Given the description of an element on the screen output the (x, y) to click on. 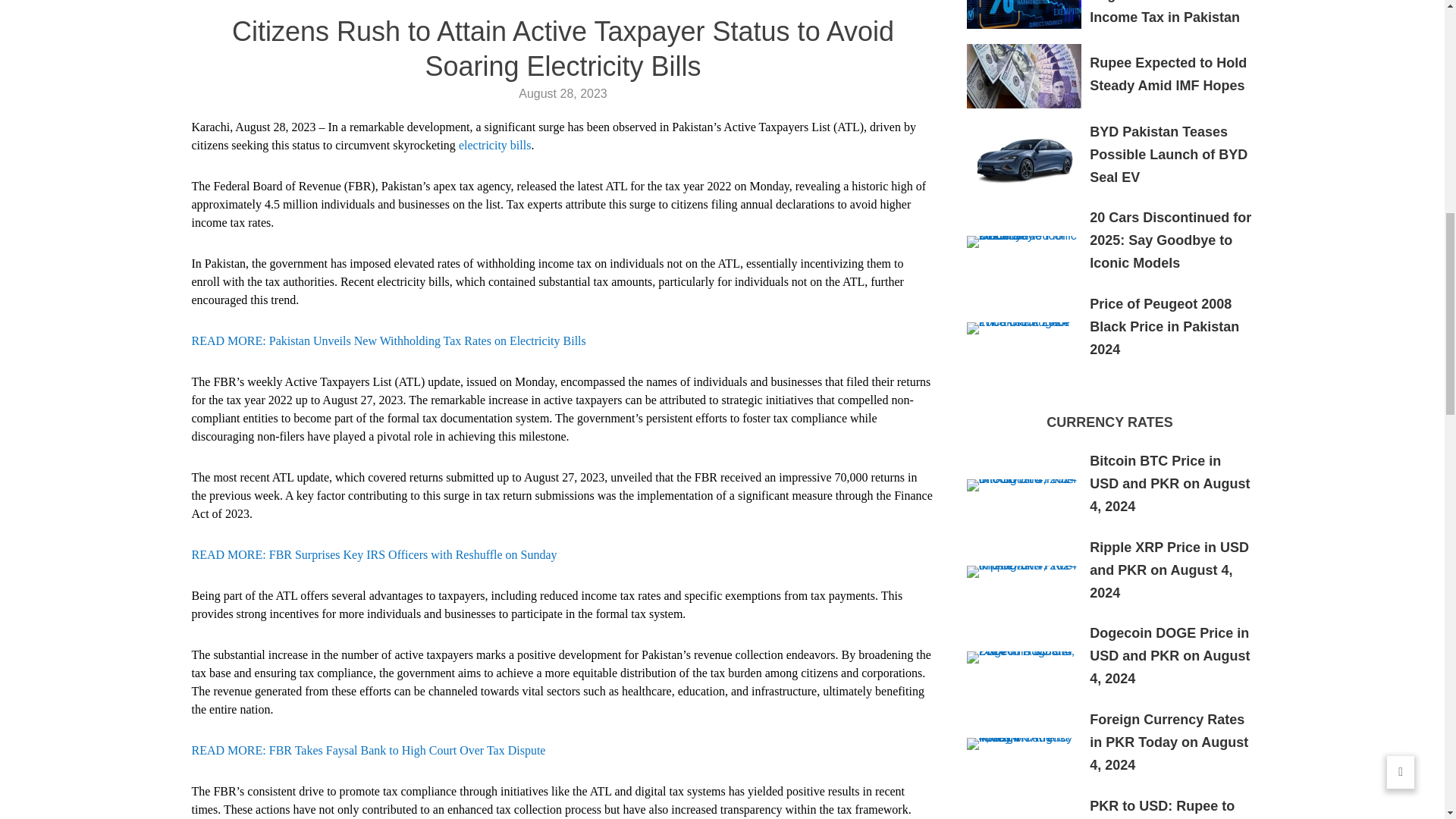
August 28, 2023 (562, 92)
electricity bills (494, 144)
